Given the description of an element on the screen output the (x, y) to click on. 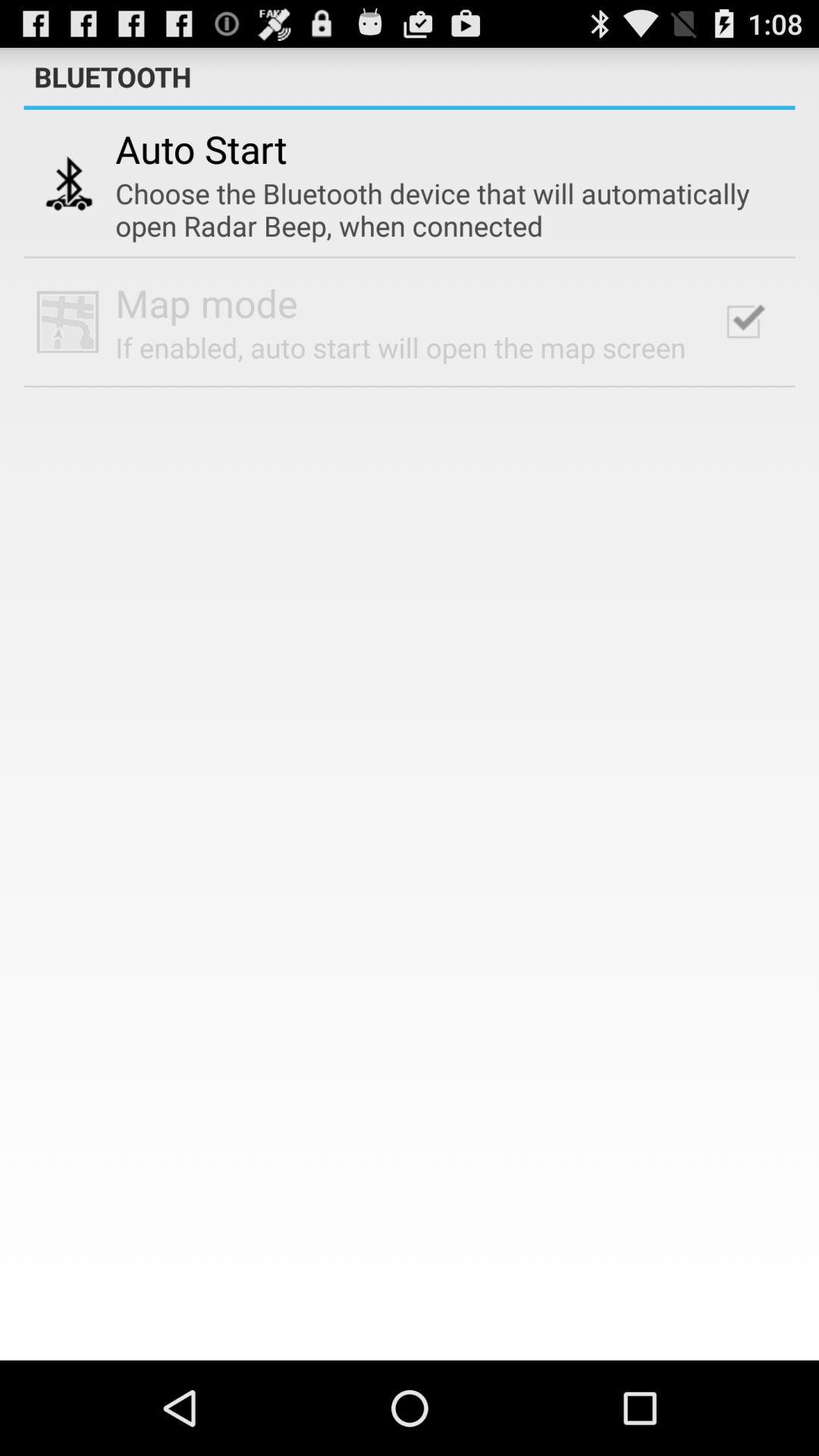
launch the icon above the map mode app (439, 209)
